Given the description of an element on the screen output the (x, y) to click on. 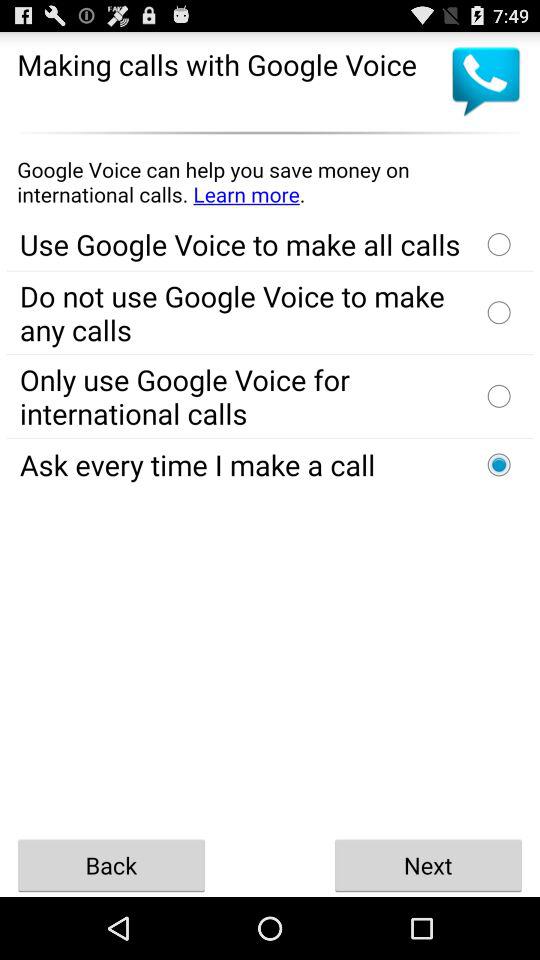
toggle option (499, 312)
